Given the description of an element on the screen output the (x, y) to click on. 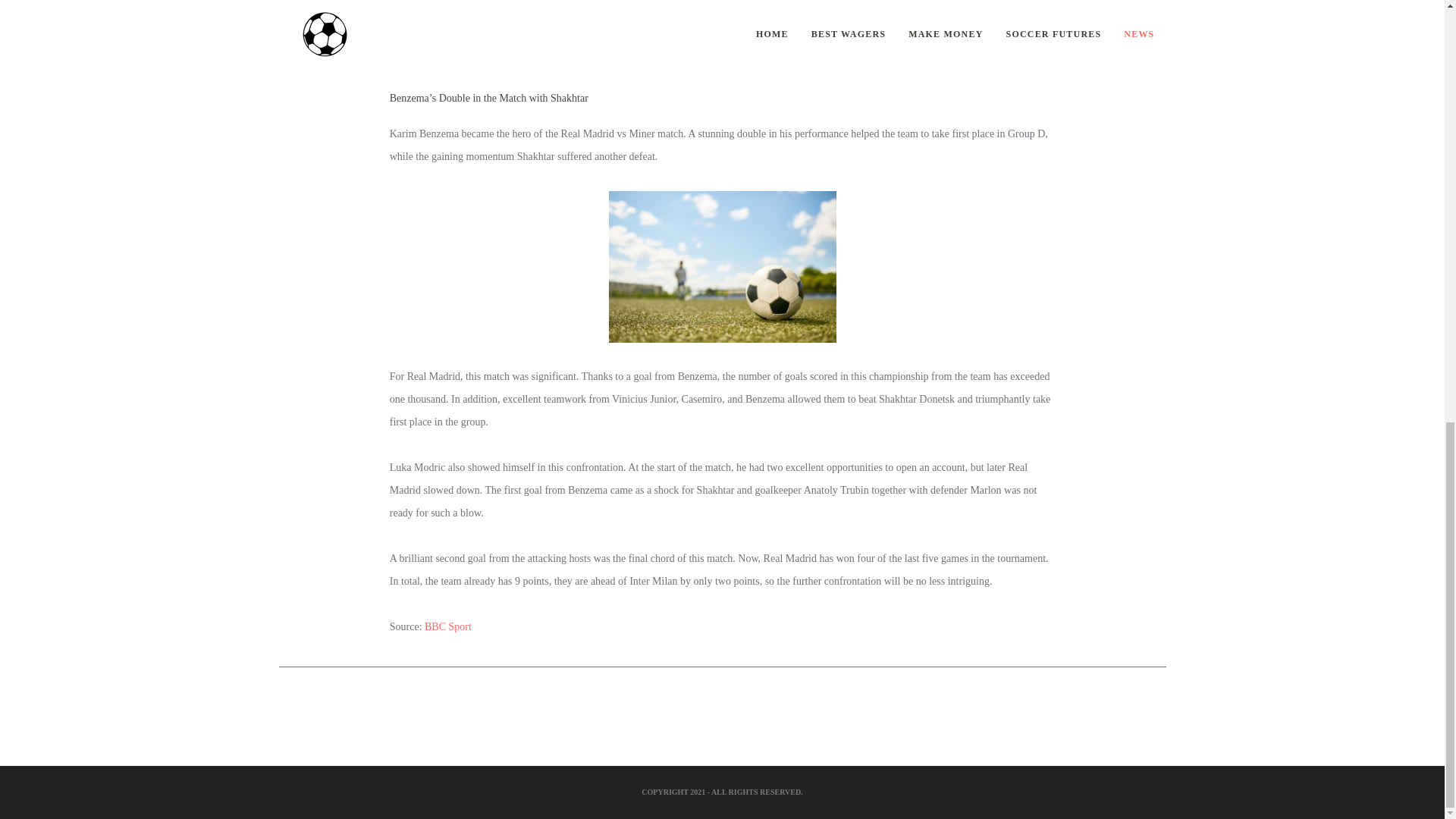
BBC Sport (448, 626)
BBC Sport (448, 5)
